Given the description of an element on the screen output the (x, y) to click on. 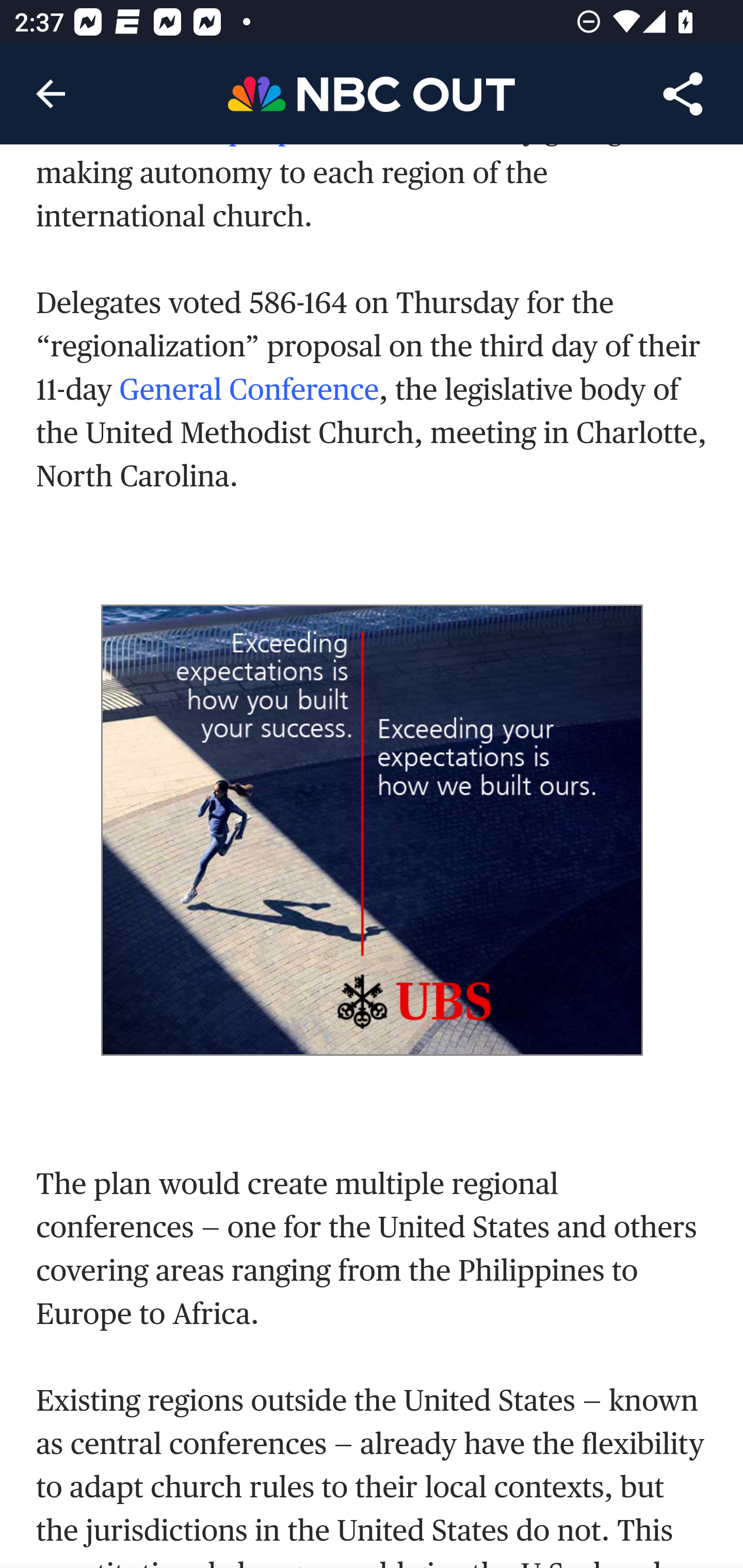
Navigate up (50, 93)
Share Article, button (683, 94)
Header, NBC Out (371, 93)
General Conference (249, 389)
